Given the description of an element on the screen output the (x, y) to click on. 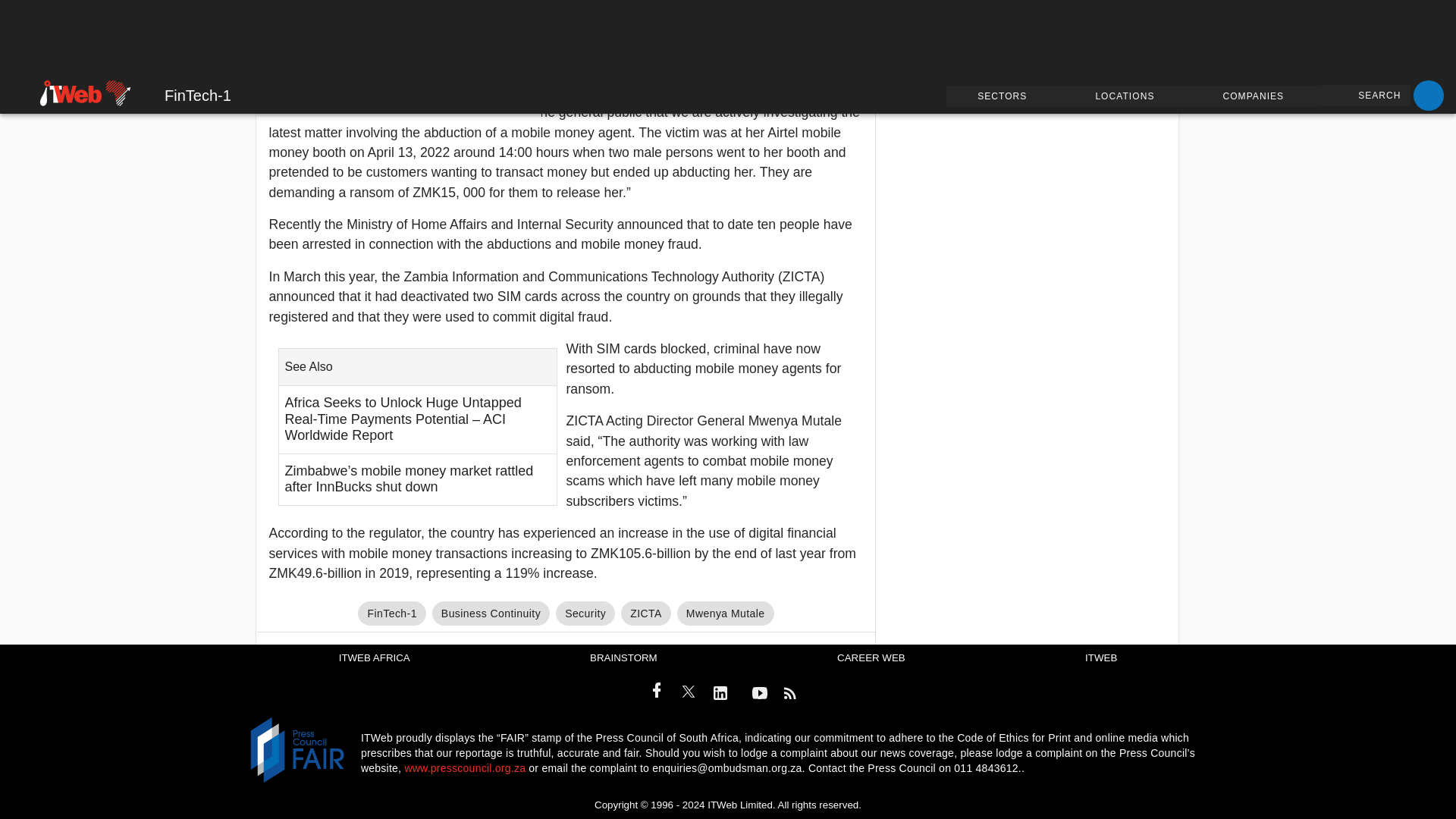
Linkedin icon (720, 692)
Mwenya Mutale (725, 613)
FinTech-1 (391, 613)
Linkedin icon (724, 693)
Security (585, 613)
Facebook icon (656, 689)
ITWEB (1100, 657)
ITWEB AFRICA (374, 657)
RSS icon (789, 692)
RSS icon (794, 693)
